Given the description of an element on the screen output the (x, y) to click on. 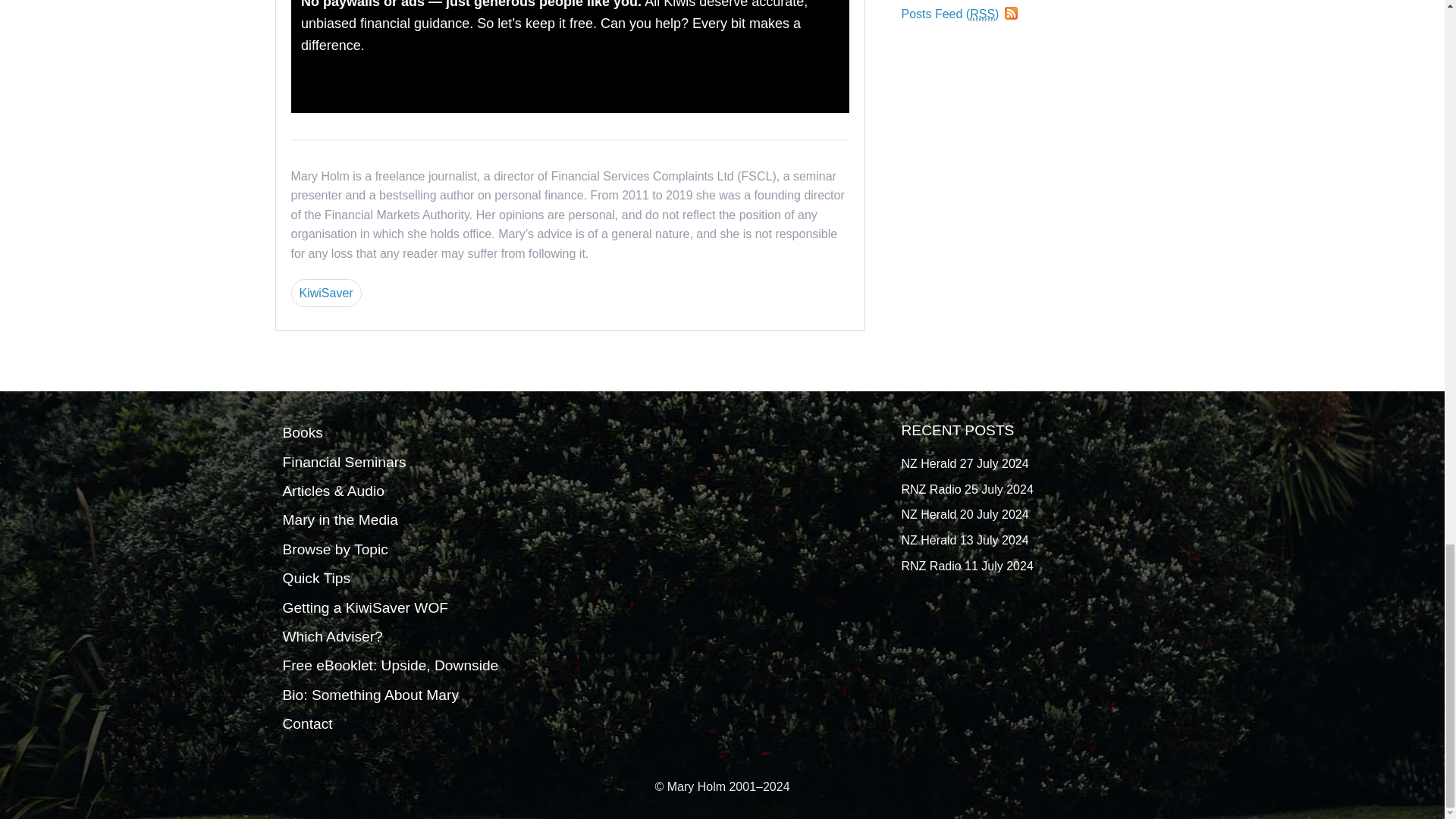
KiwiSaver (326, 293)
